Given the description of an element on the screen output the (x, y) to click on. 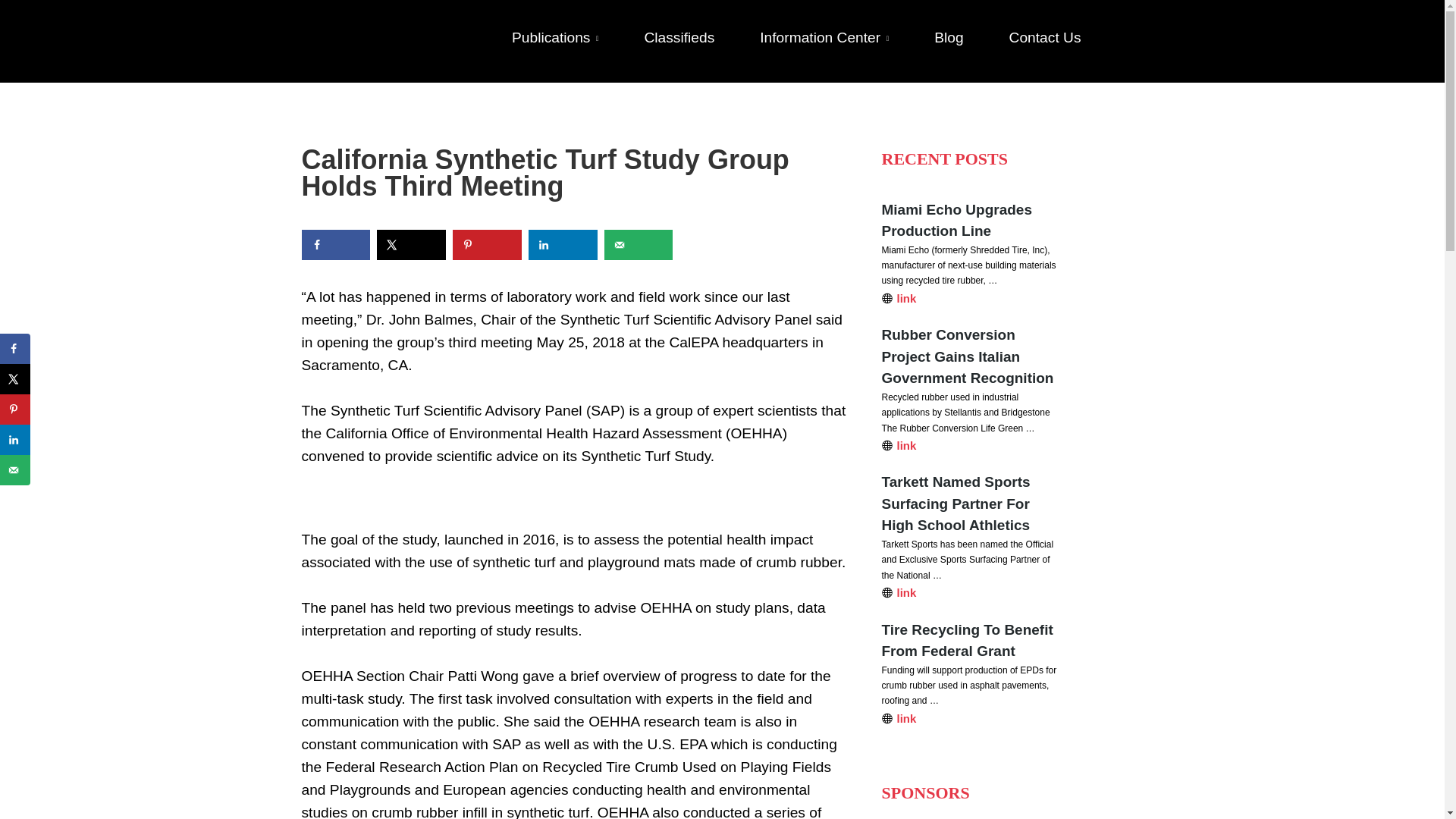
Save to Pinterest (15, 409)
Contact Us (1034, 54)
link (971, 445)
Information Center (823, 54)
Publications (566, 54)
Share on LinkedIn (562, 245)
Send over email (638, 245)
link (971, 718)
Blog (948, 54)
